Given the description of an element on the screen output the (x, y) to click on. 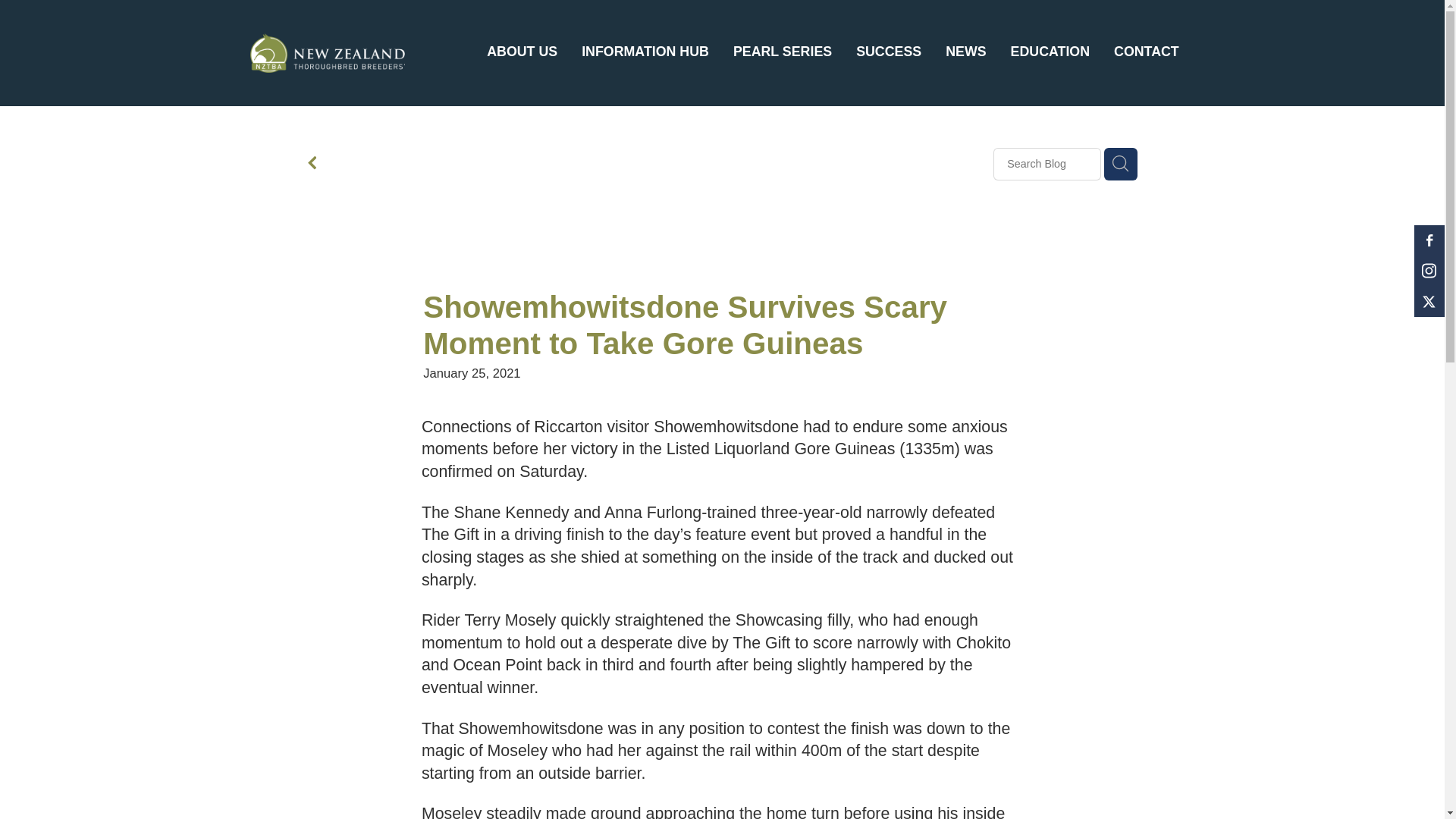
EDUCATION (1049, 51)
PEARL SERIES (782, 51)
NEWS (964, 51)
INFORMATION HUB (644, 51)
SUCCESS (888, 51)
ABOUT US (521, 51)
